Given the description of an element on the screen output the (x, y) to click on. 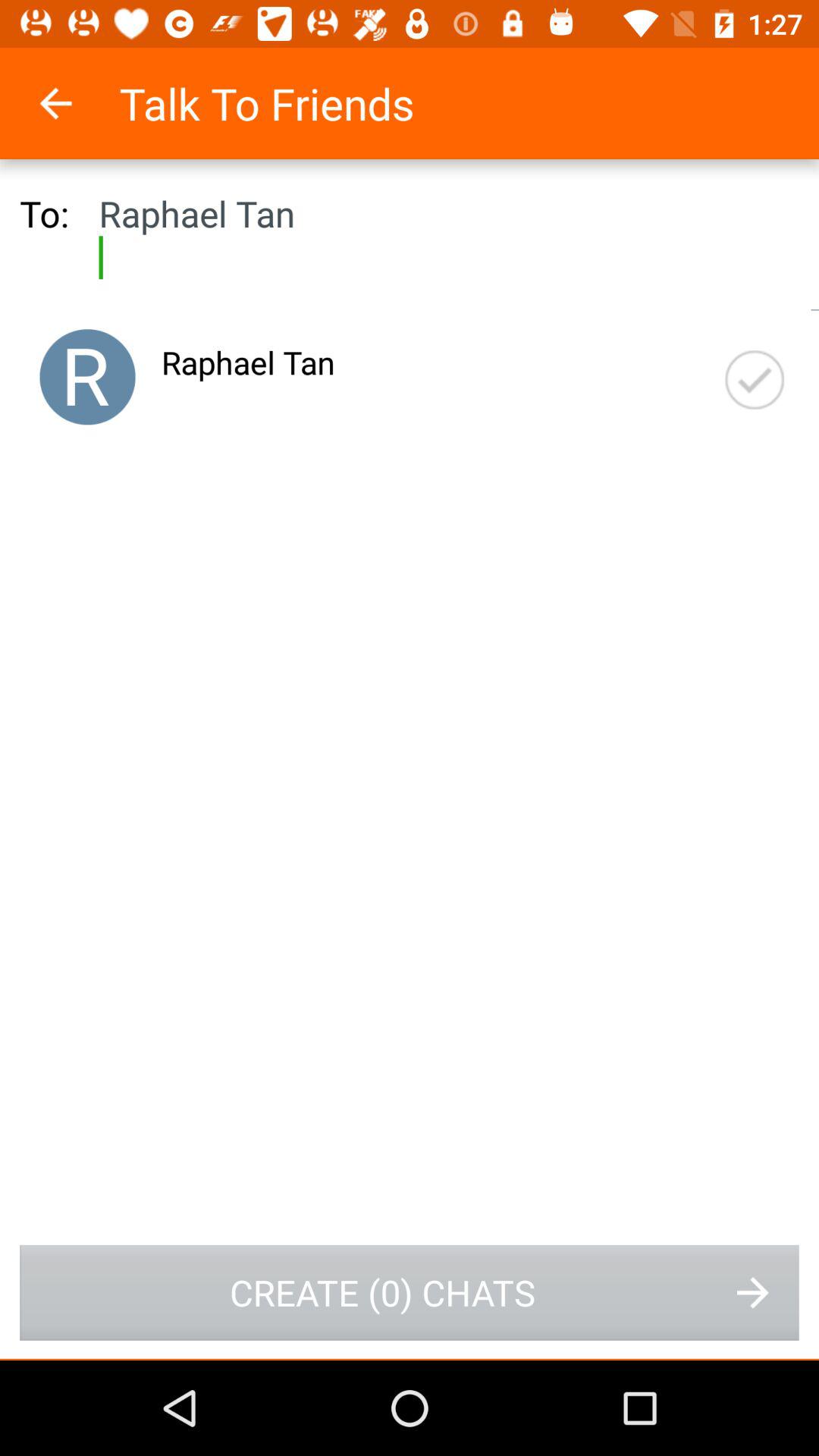
tap the item to the left of the raphael tan
 item (87, 376)
